Given the description of an element on the screen output the (x, y) to click on. 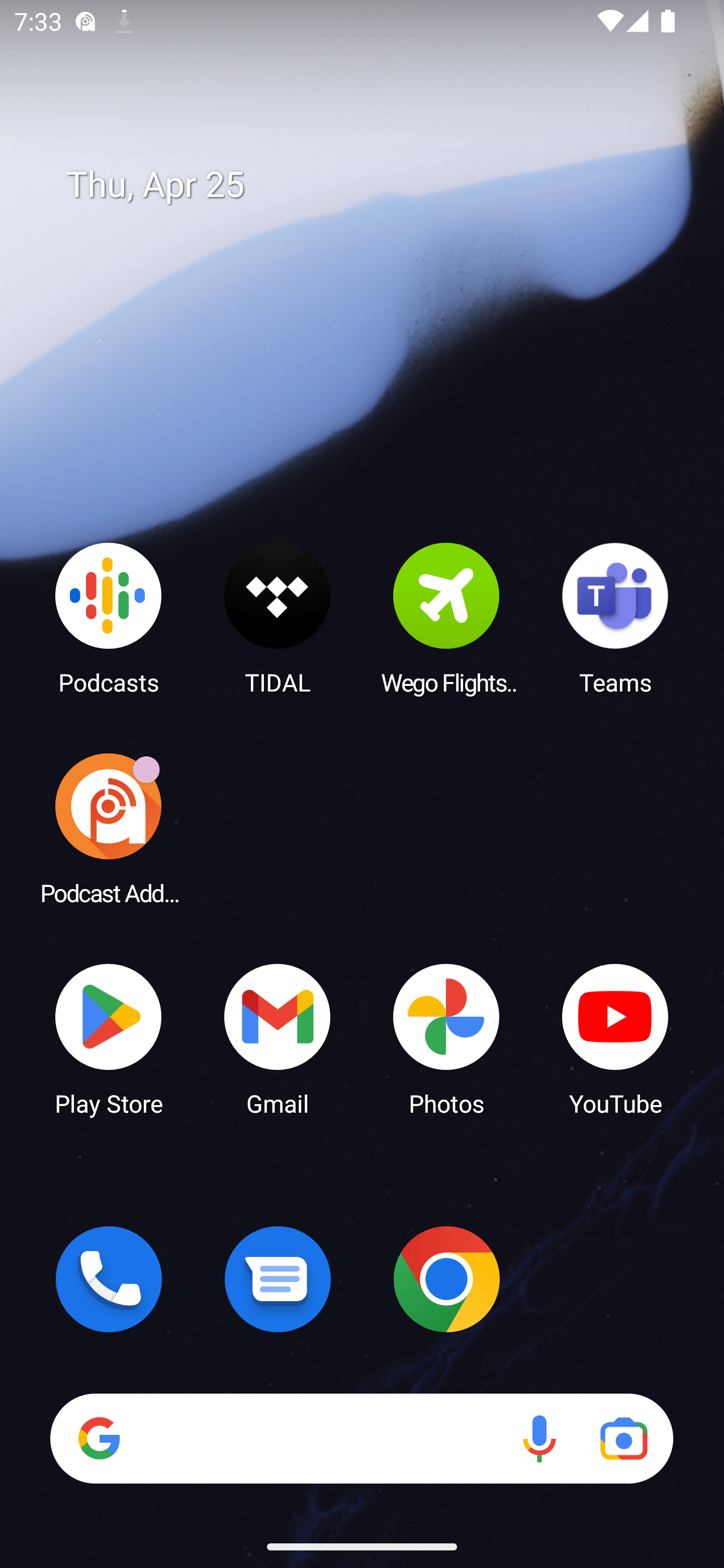
Thu, Apr 25 (375, 184)
Podcasts (108, 617)
TIDAL (277, 617)
Wego Flights & Hotels (445, 617)
Teams (615, 617)
Podcast Addict Podcast Addict has 19 notifications (108, 828)
Play Store (108, 1038)
Gmail (277, 1038)
Photos (445, 1038)
YouTube (615, 1038)
Phone (108, 1279)
Messages (277, 1279)
Chrome (446, 1279)
Search Voice search Google Lens (361, 1438)
Voice search (539, 1438)
Google Lens (623, 1438)
